Given the description of an element on the screen output the (x, y) to click on. 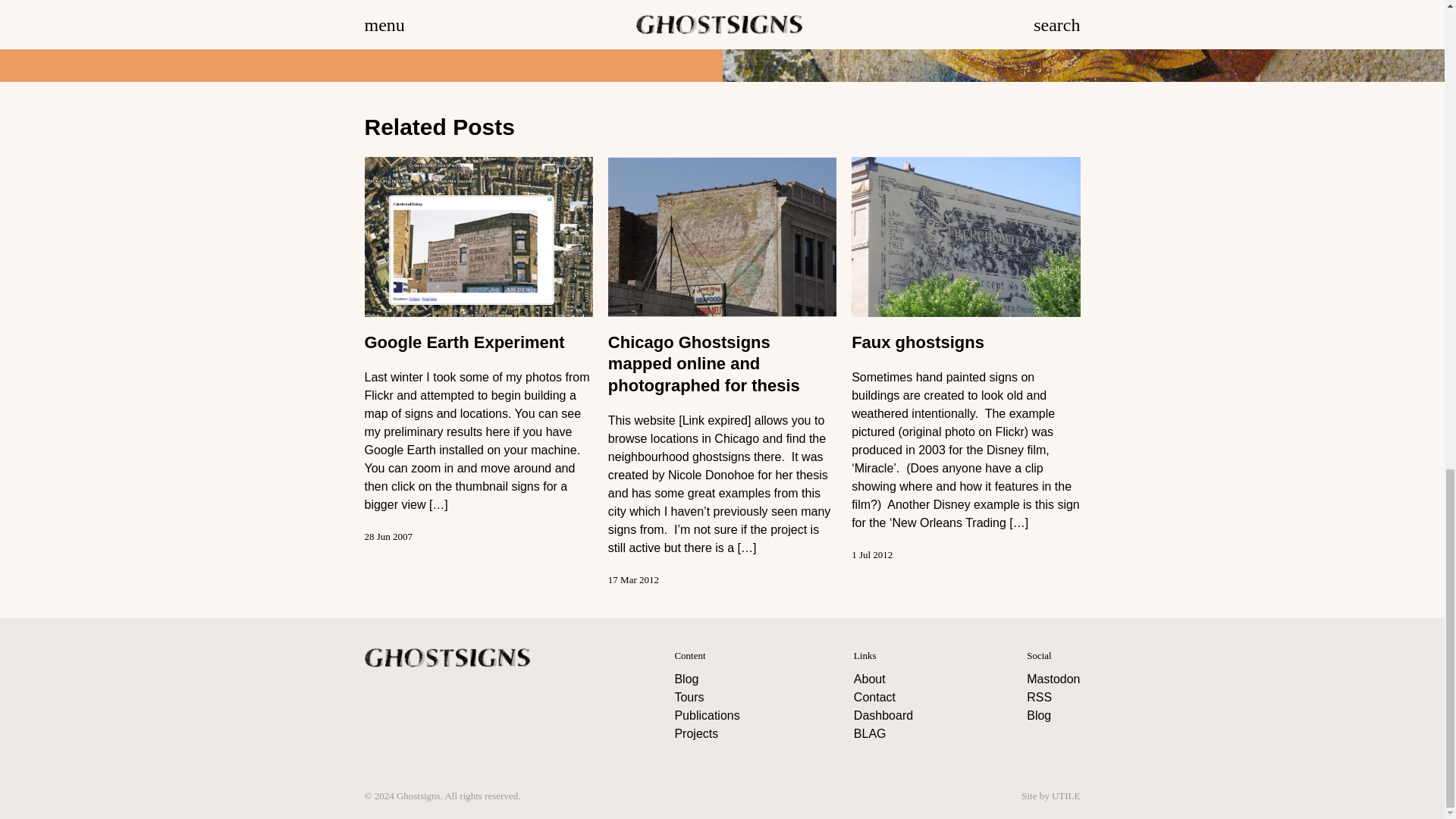
Blog (686, 678)
signup frame (527, 27)
Tours (688, 697)
RSS feed for the Ghostsigns blog (1038, 697)
BLAG on Mastodon (1053, 678)
